Given the description of an element on the screen output the (x, y) to click on. 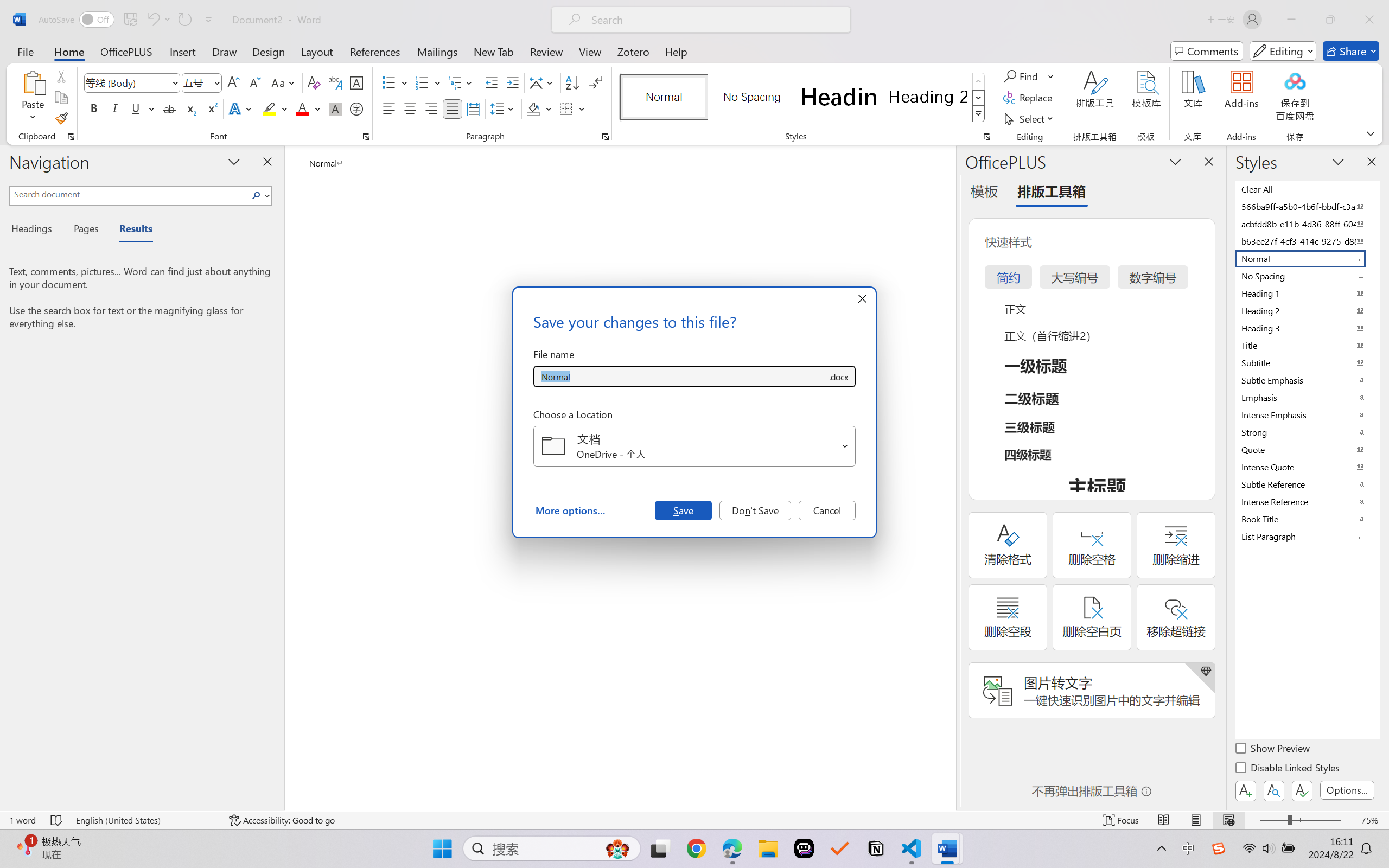
Open (844, 446)
Web Layout (1228, 819)
Class: NetUIScrollBar (948, 477)
Phonetic Guide... (334, 82)
Results (130, 229)
Heading 3 (1306, 327)
Design (268, 51)
Zoom (1300, 819)
Customize Quick Access Toolbar (208, 19)
Search document (128, 193)
